Given the description of an element on the screen output the (x, y) to click on. 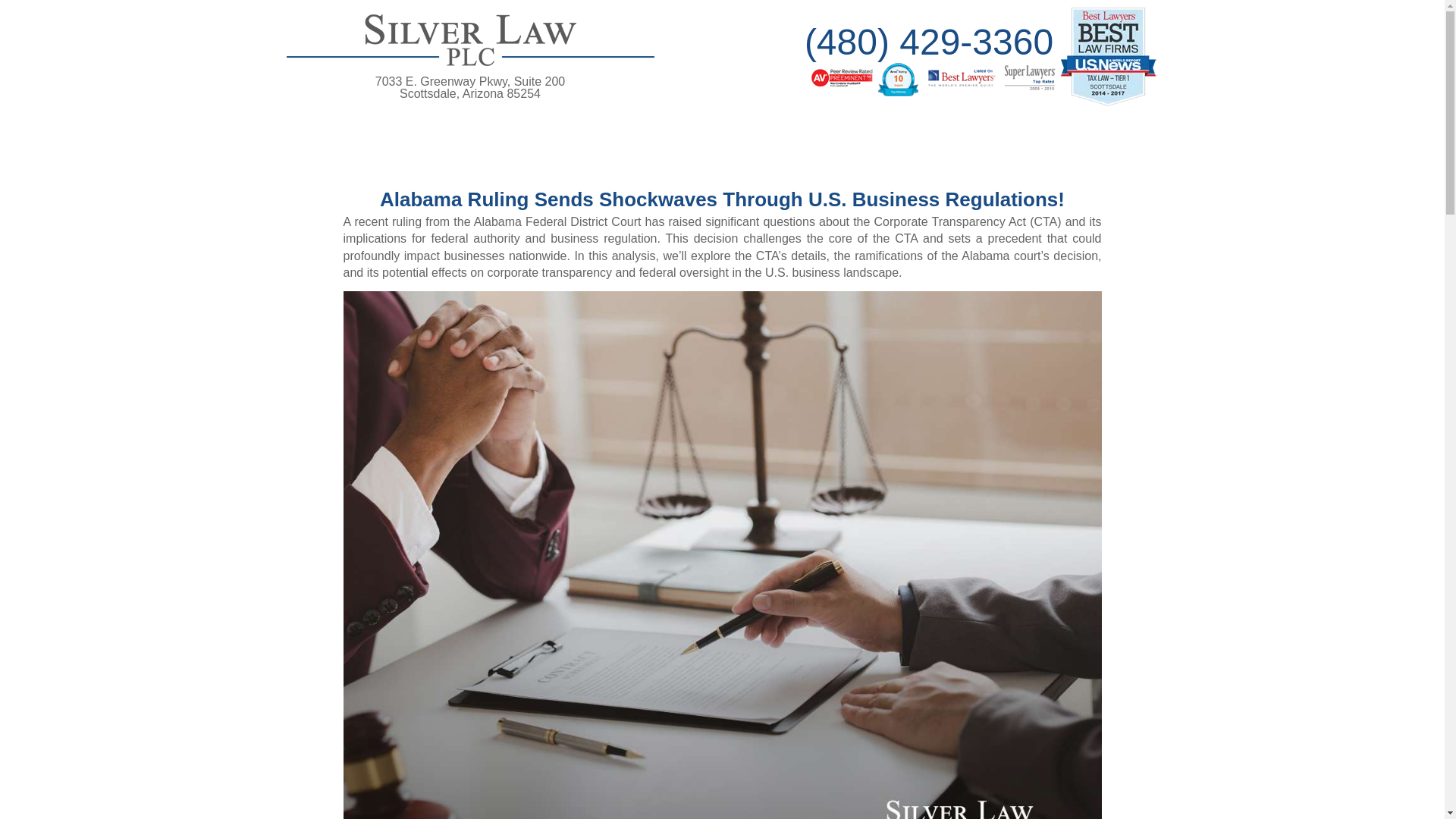
home page of Nevada Tax Attorney, Silver Law PLC (470, 86)
HOME (469, 68)
